Given the description of an element on the screen output the (x, y) to click on. 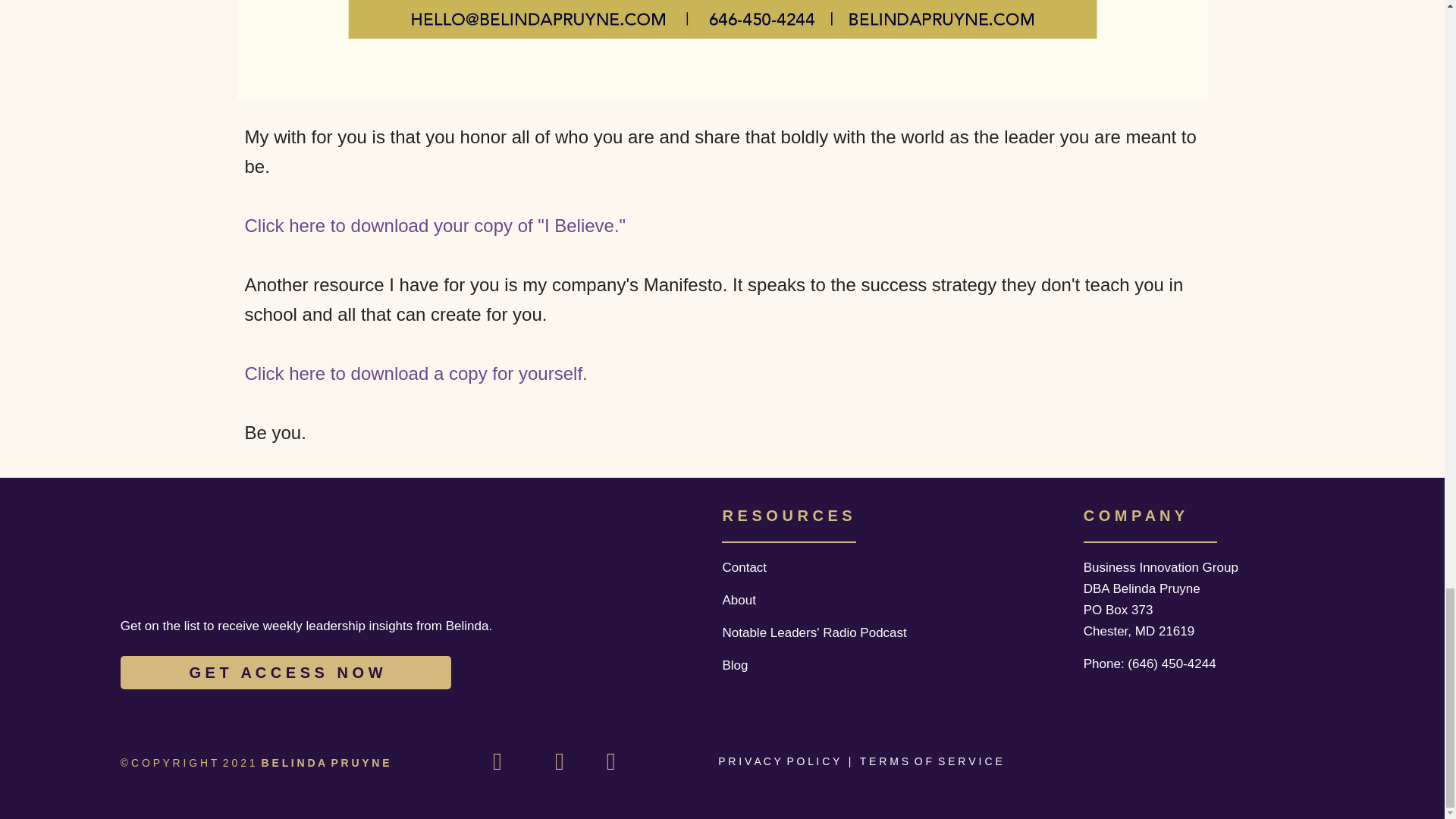
Contact (744, 567)
G E T   A C C E S S   N O W (285, 672)
Click here to download a copy for yourself. (415, 373)
Click here to download your copy of "I Believe." (435, 225)
Notable Leaders' Radio Podcast (813, 632)
P R I V A C Y  P O L I C Y  (780, 761)
About (738, 599)
T E R M S  O F  S E R V I C E  (933, 761)
Blog (735, 665)
